Given the description of an element on the screen output the (x, y) to click on. 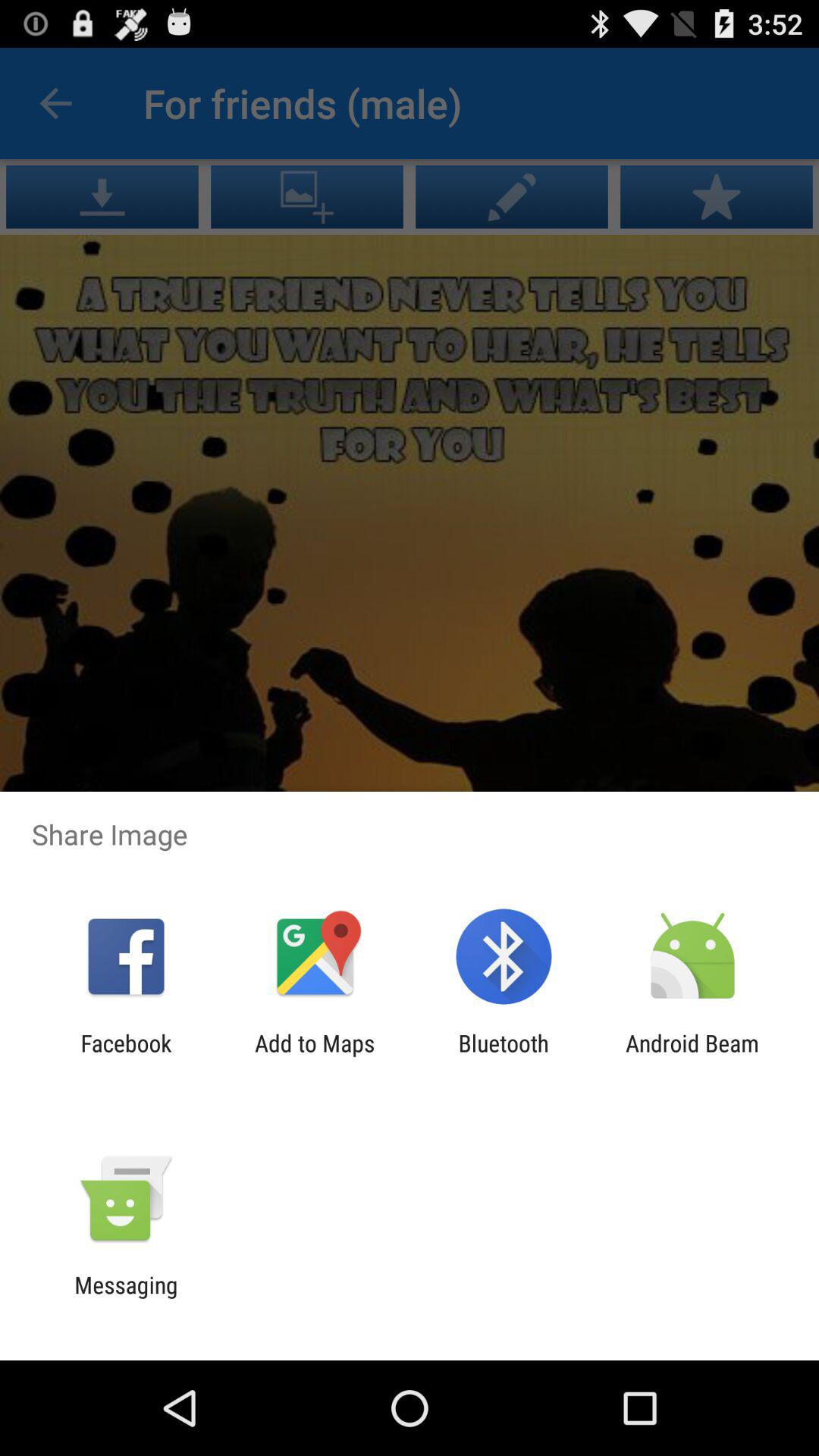
turn on the app next to the add to maps item (503, 1056)
